Given the description of an element on the screen output the (x, y) to click on. 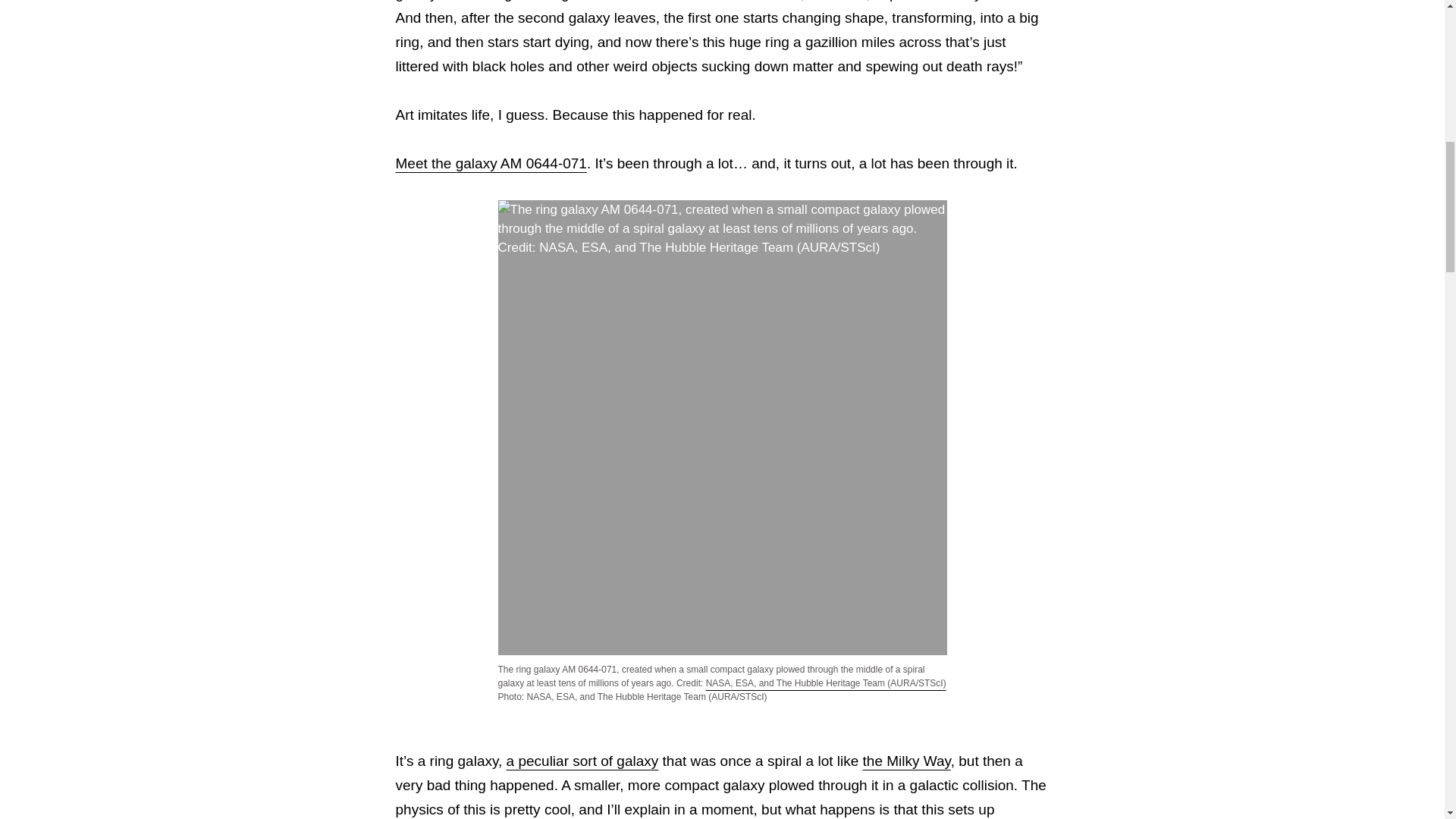
the Milky Way (906, 760)
Meet the galaxy AM 0644-071 (491, 163)
a peculiar sort of galaxy (582, 760)
